Given the description of an element on the screen output the (x, y) to click on. 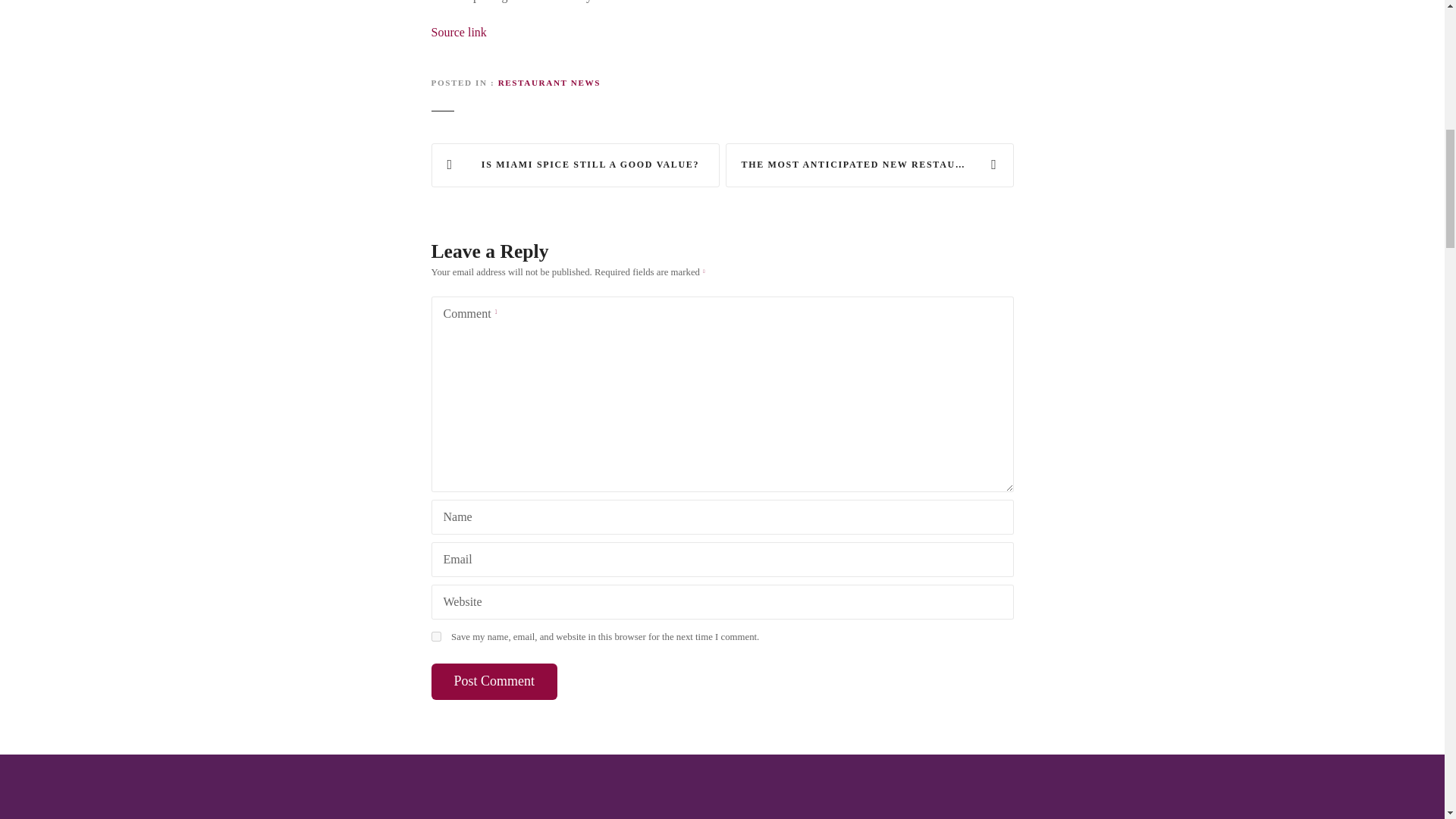
yes (435, 636)
Post Comment (493, 681)
